Given the description of an element on the screen output the (x, y) to click on. 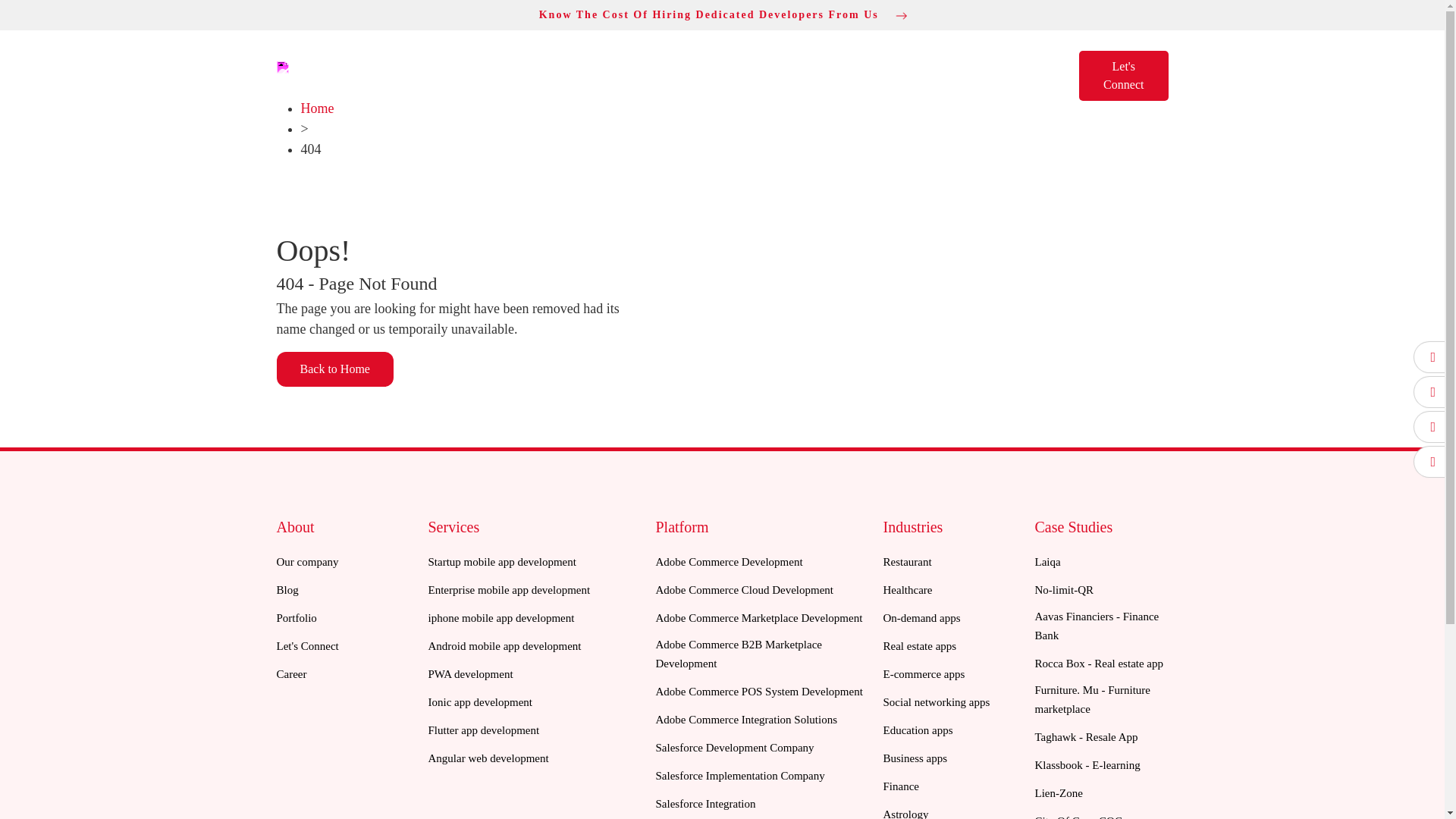
Know The Cost Of Hiring Dedicated Developers From Us (721, 14)
Services (765, 67)
Industries (855, 67)
About (687, 67)
